Given the description of an element on the screen output the (x, y) to click on. 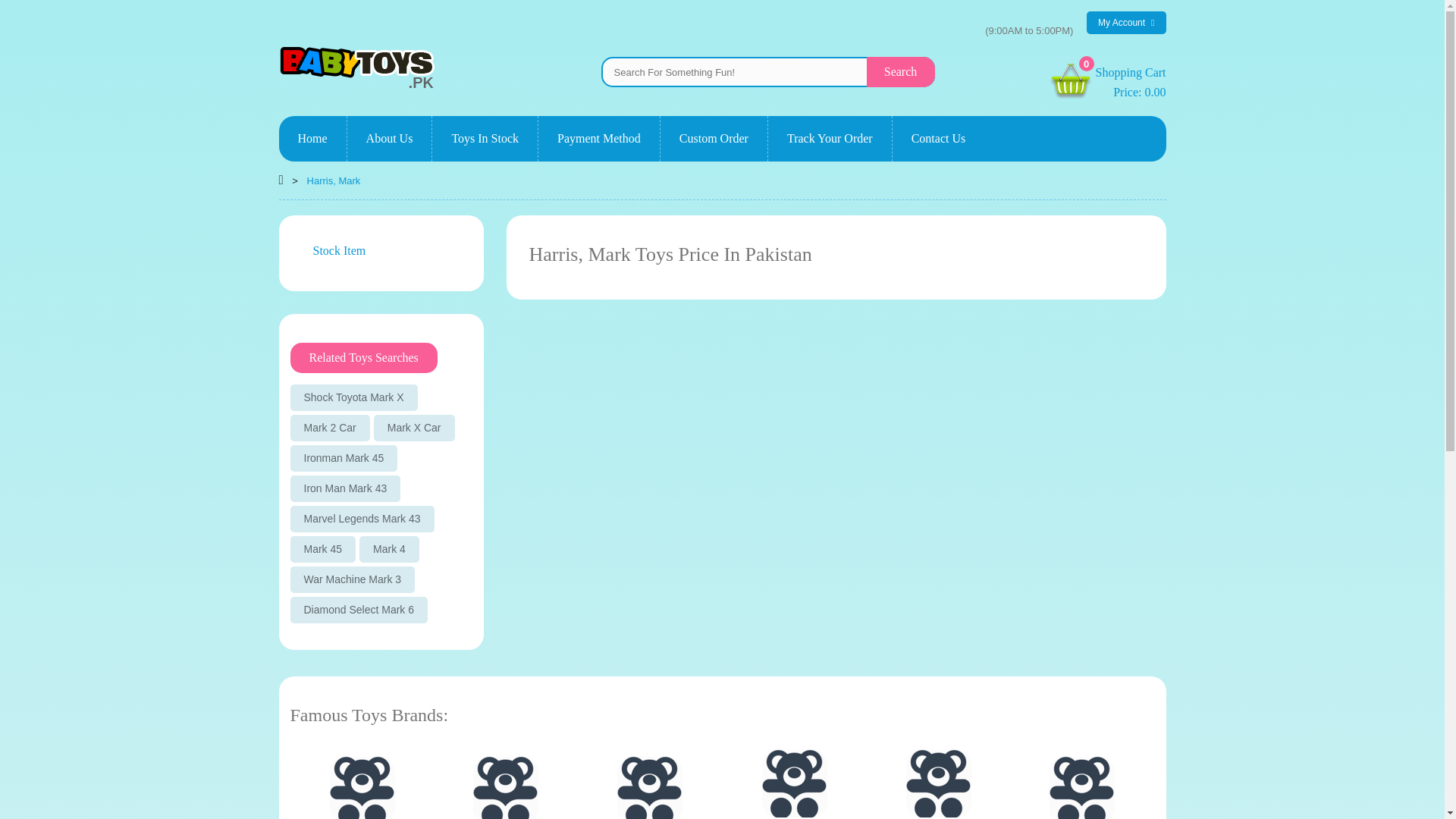
William Mark (361, 787)
Track Your Order (829, 138)
Marvel Legends Mark 43 (361, 519)
Diamond Select Mark 6 (358, 610)
My Account (1131, 81)
Mark 45 (1125, 22)
Mark 2 Car (322, 549)
Contact Us (329, 427)
Harris, Ann Sutherland (938, 138)
Salzman, Mark (505, 787)
William Mark (649, 787)
Home (361, 787)
Custom Order (312, 138)
Mark 4 (714, 138)
